Given the description of an element on the screen output the (x, y) to click on. 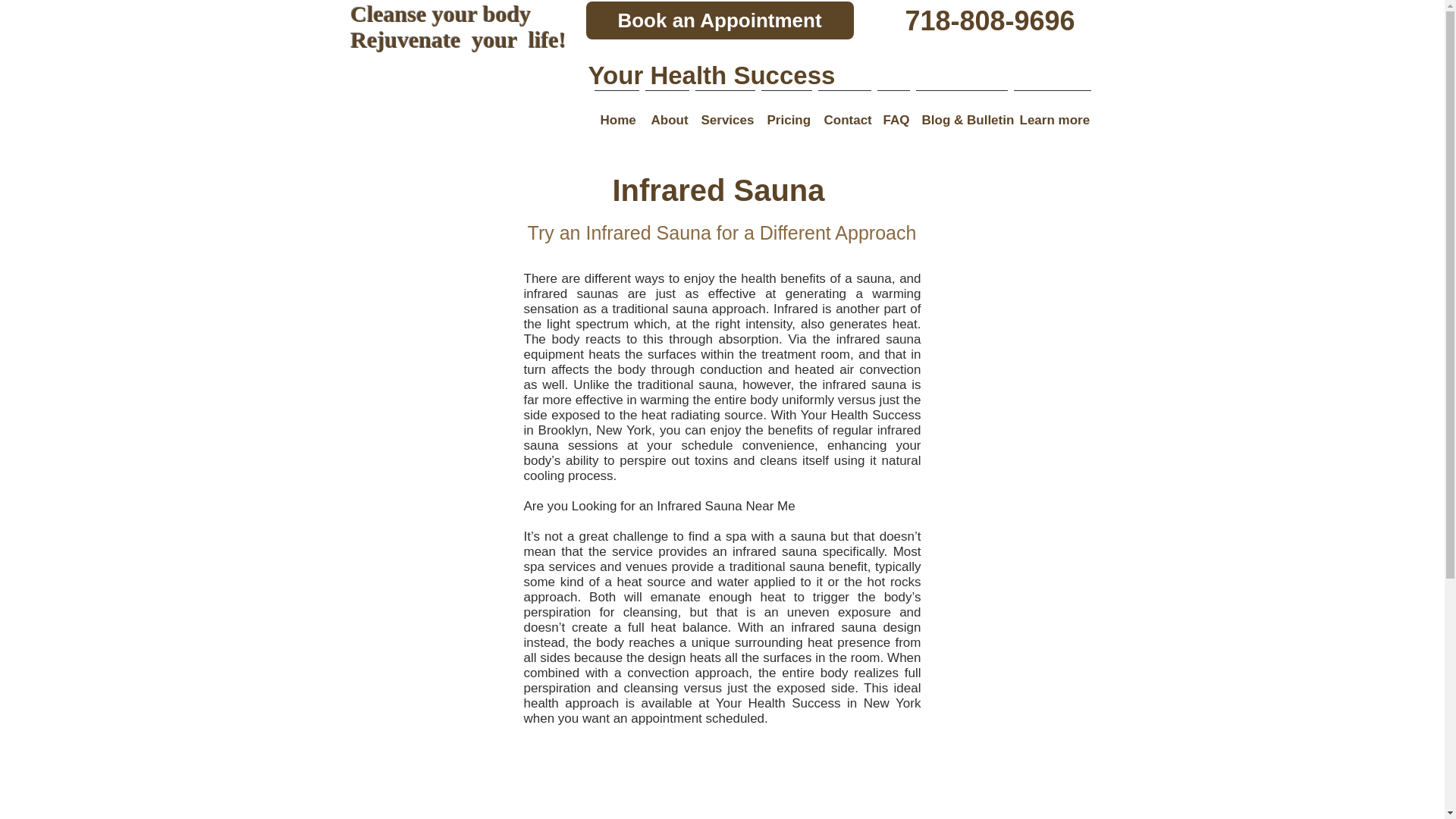
718-808-9696 (989, 21)
Contact (843, 113)
Services (724, 113)
Book an Appointment (719, 20)
Home (616, 113)
